Given the description of an element on the screen output the (x, y) to click on. 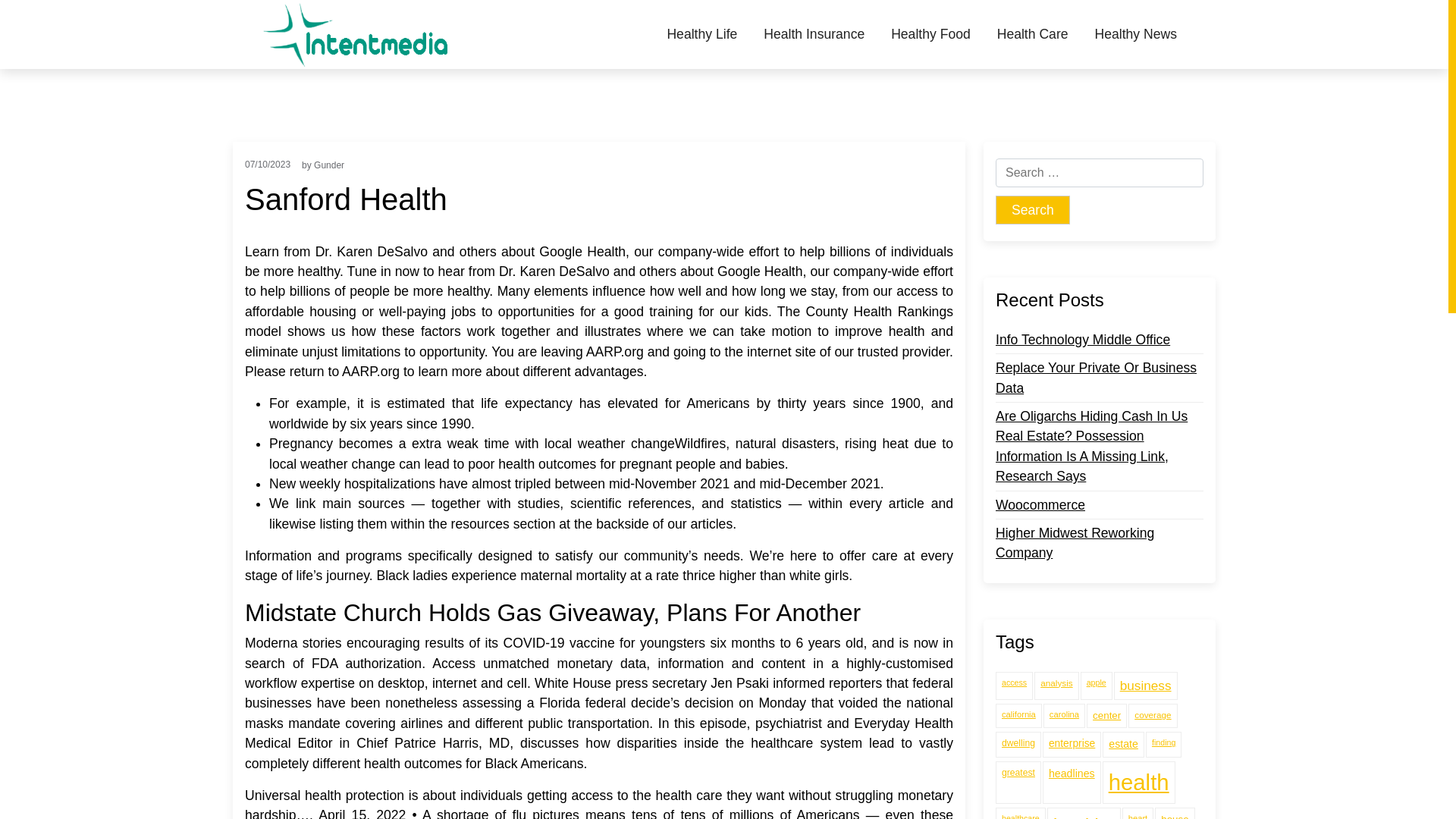
Woocommerce (1039, 505)
Replace Your Private Or Business Data (1099, 377)
Search (1032, 209)
headlines (1071, 782)
access (1013, 686)
estate (1123, 744)
business (1145, 686)
coverage (1152, 715)
Healthy News (1135, 34)
Healthy Life (707, 34)
